Given the description of an element on the screen output the (x, y) to click on. 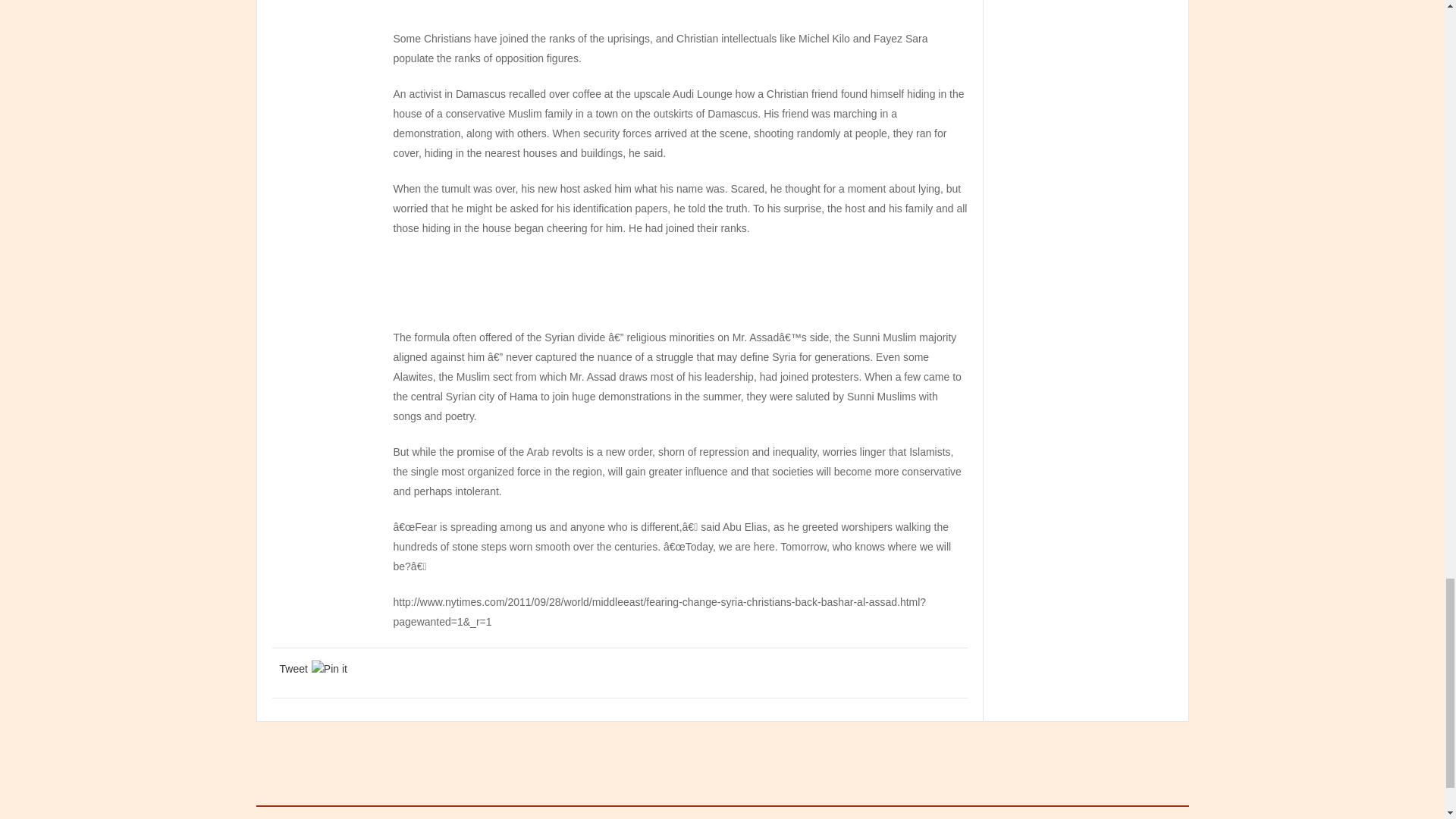
Pin it (329, 668)
Tweet (293, 668)
Advertisement (680, 11)
Advertisement (680, 287)
